Given the description of an element on the screen output the (x, y) to click on. 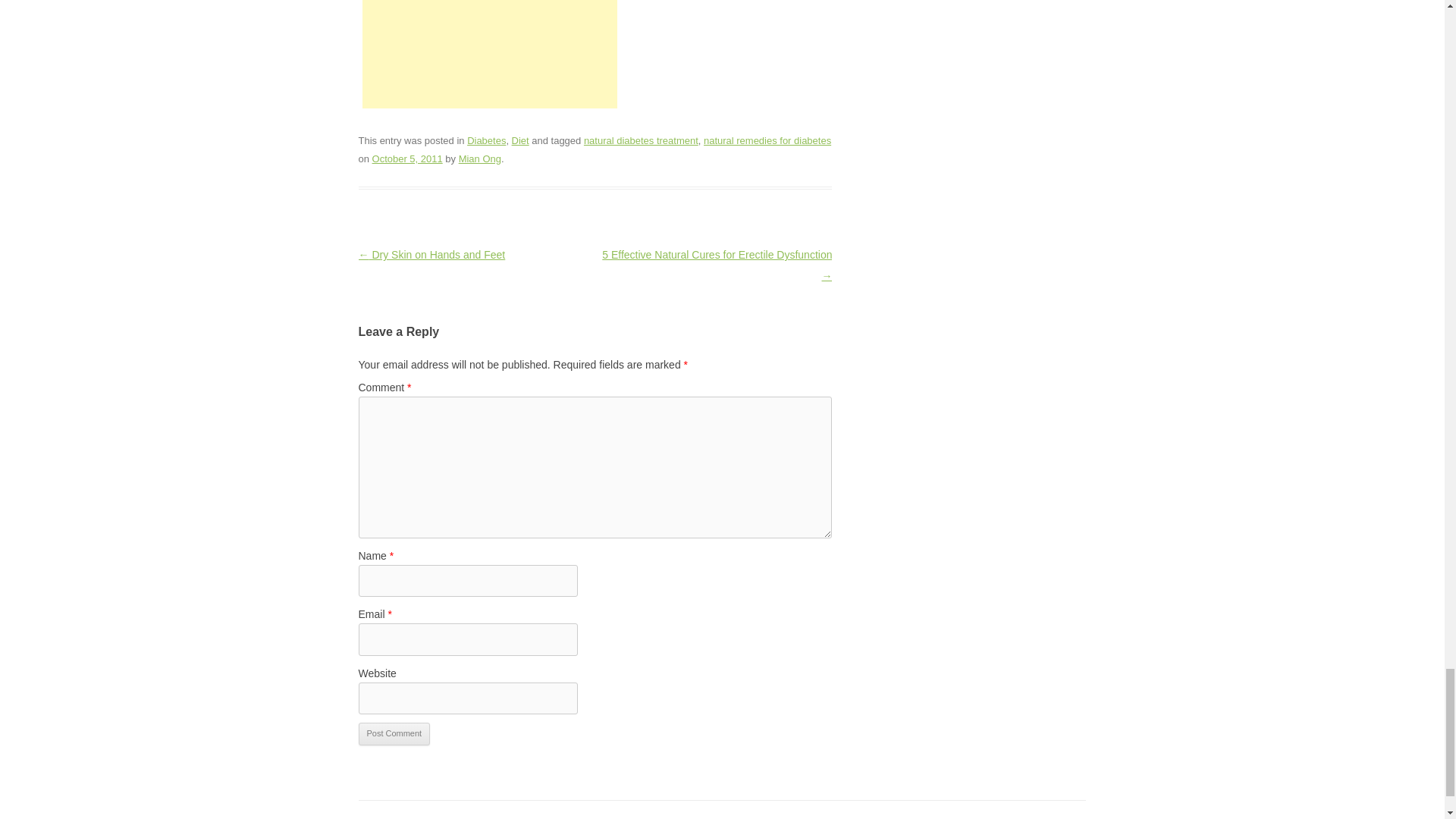
1:50 pm (407, 158)
Post Comment (393, 733)
Mian Ong (479, 158)
View all posts by Mian Ong (479, 158)
October 5, 2011 (407, 158)
Post Comment (393, 733)
Diabetes (486, 140)
natural diabetes treatment (640, 140)
Diet (520, 140)
natural remedies for diabetes (767, 140)
